Given the description of an element on the screen output the (x, y) to click on. 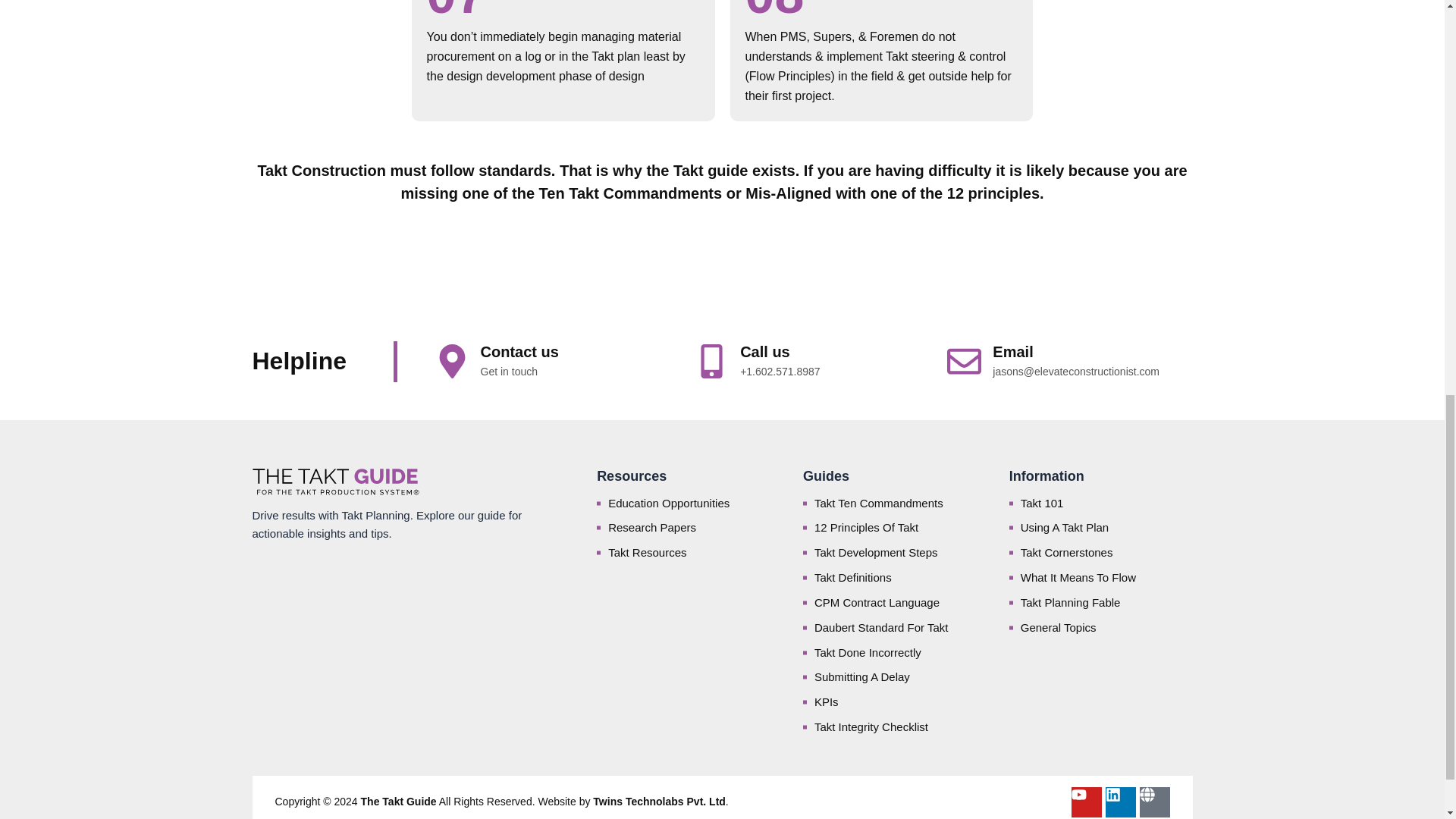
Takt Ten Commandments (895, 503)
12 Principles Of Takt (895, 527)
Get in touch (509, 371)
Takt Resources (688, 552)
Takt Definitions (895, 577)
Education Opportunities (688, 503)
Daubert Standard For Takt (895, 627)
Research Papers (688, 527)
CPM Contract Language (895, 602)
Takt Development Steps (895, 552)
